Given the description of an element on the screen output the (x, y) to click on. 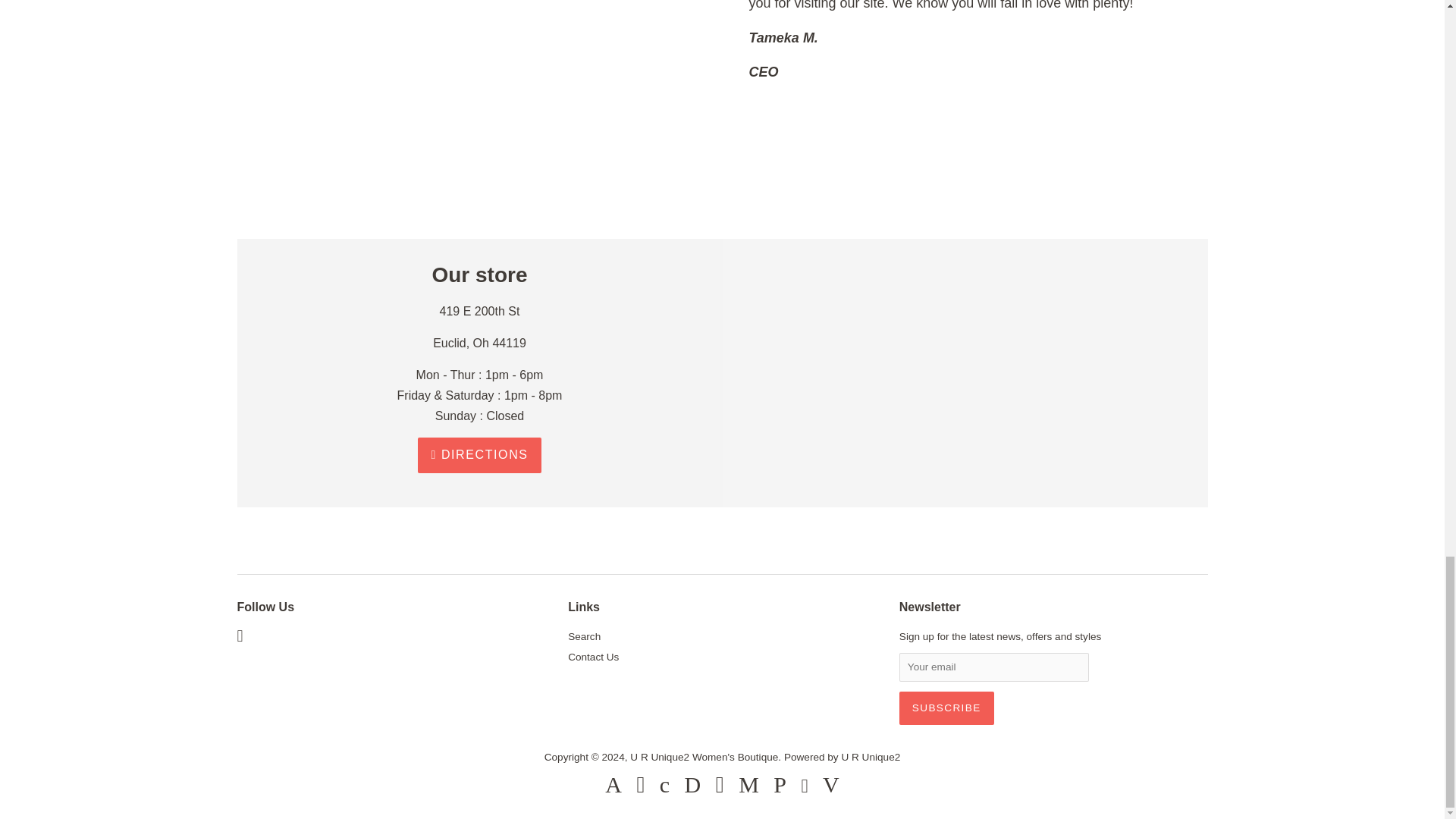
DIRECTIONS (478, 455)
Subscribe (946, 707)
Powered by U R Unique2 (841, 756)
Search (583, 636)
Contact Us (592, 656)
U R Unique2 Women's Boutique (703, 756)
Subscribe (946, 707)
